Given the description of an element on the screen output the (x, y) to click on. 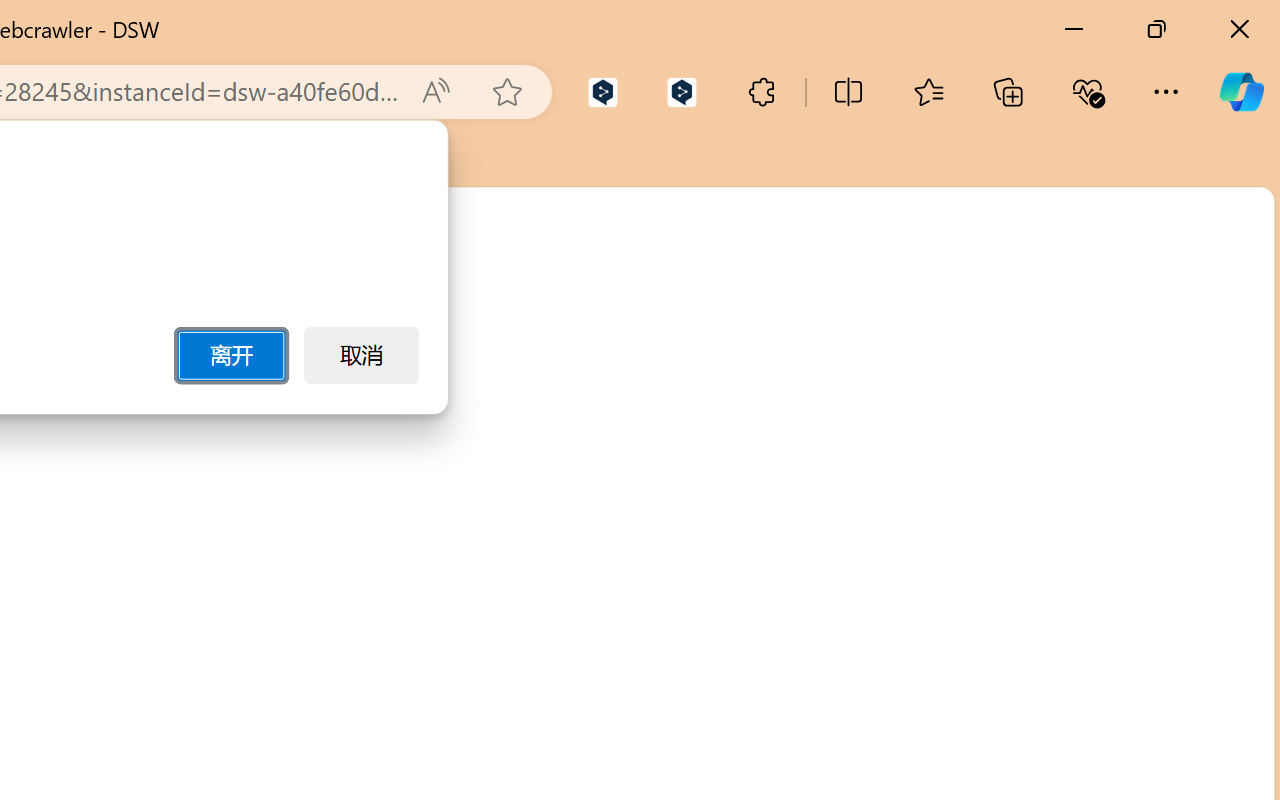
Amharic (1063, 434)
